Given the description of an element on the screen output the (x, y) to click on. 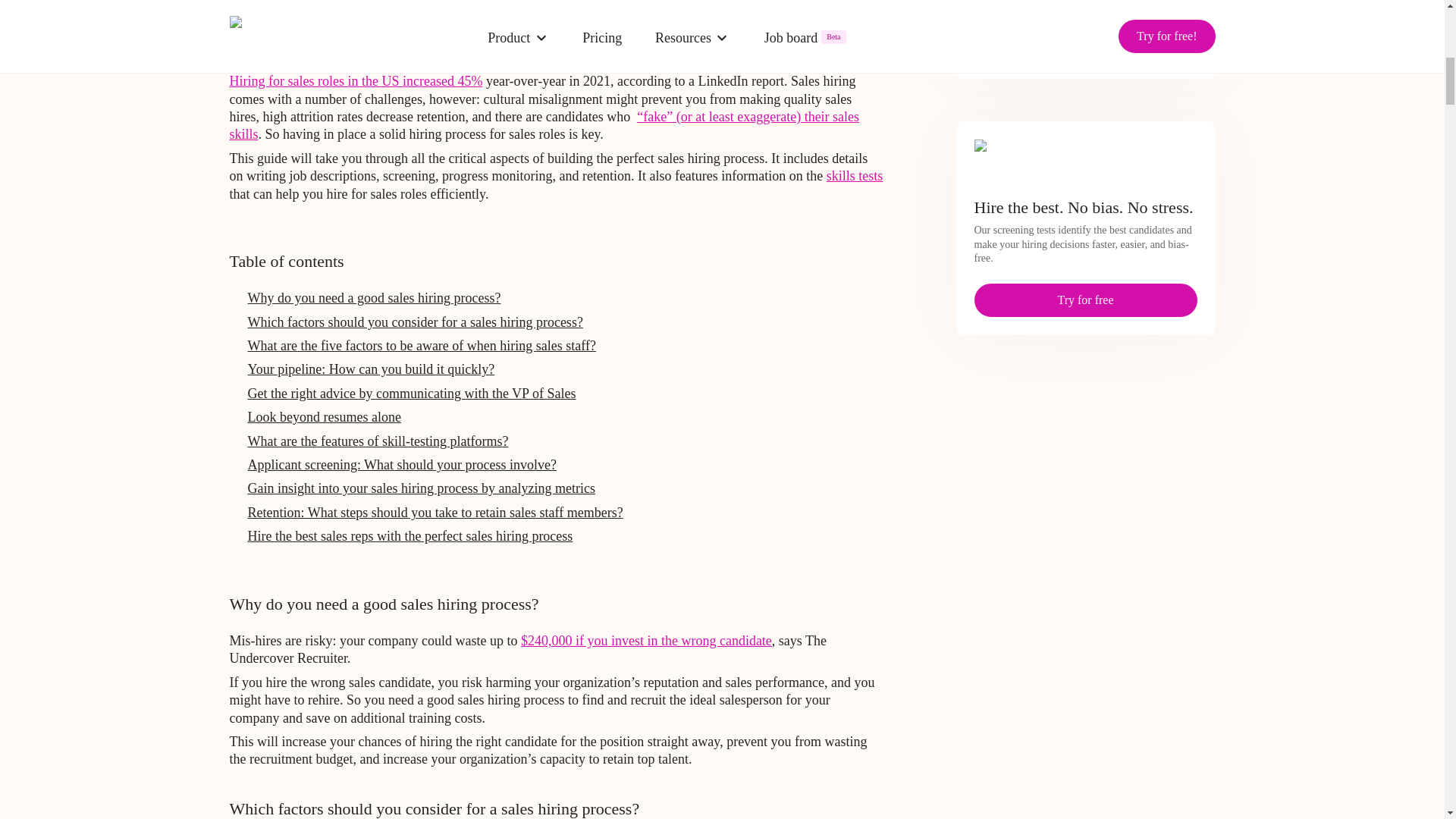
Get the right advice by communicating with the VP of Sales (411, 393)
skills tests (855, 175)
What are the features of skill-testing platforms? (377, 441)
Look beyond resumes alone (323, 417)
Your pipeline: How can you build it quickly? (371, 368)
Applicant screening: What should your process involve? (401, 464)
Why do you need a good sales hiring process? (373, 297)
